Given the description of an element on the screen output the (x, y) to click on. 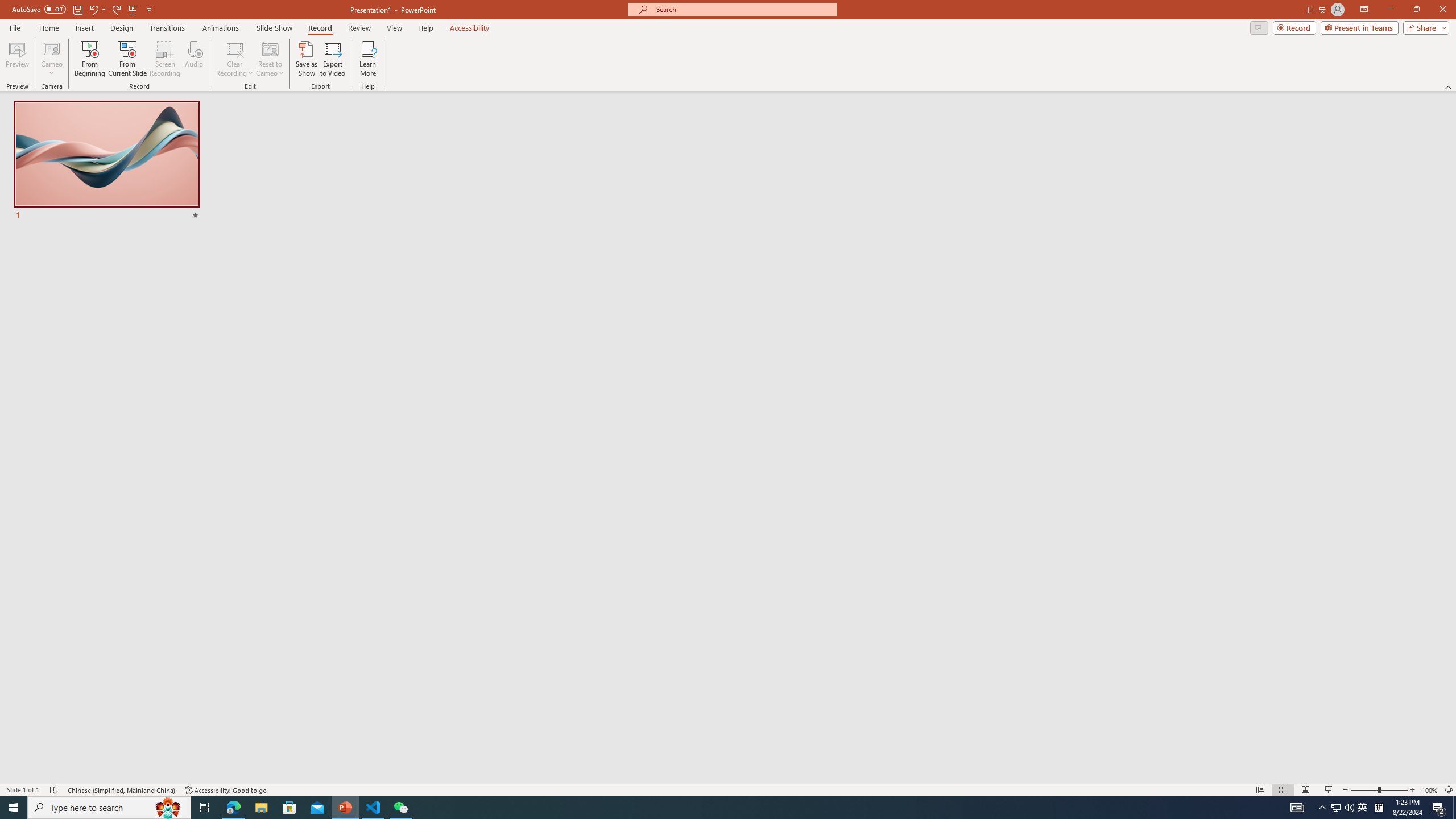
Zoom 100% (1430, 790)
